Given the description of an element on the screen output the (x, y) to click on. 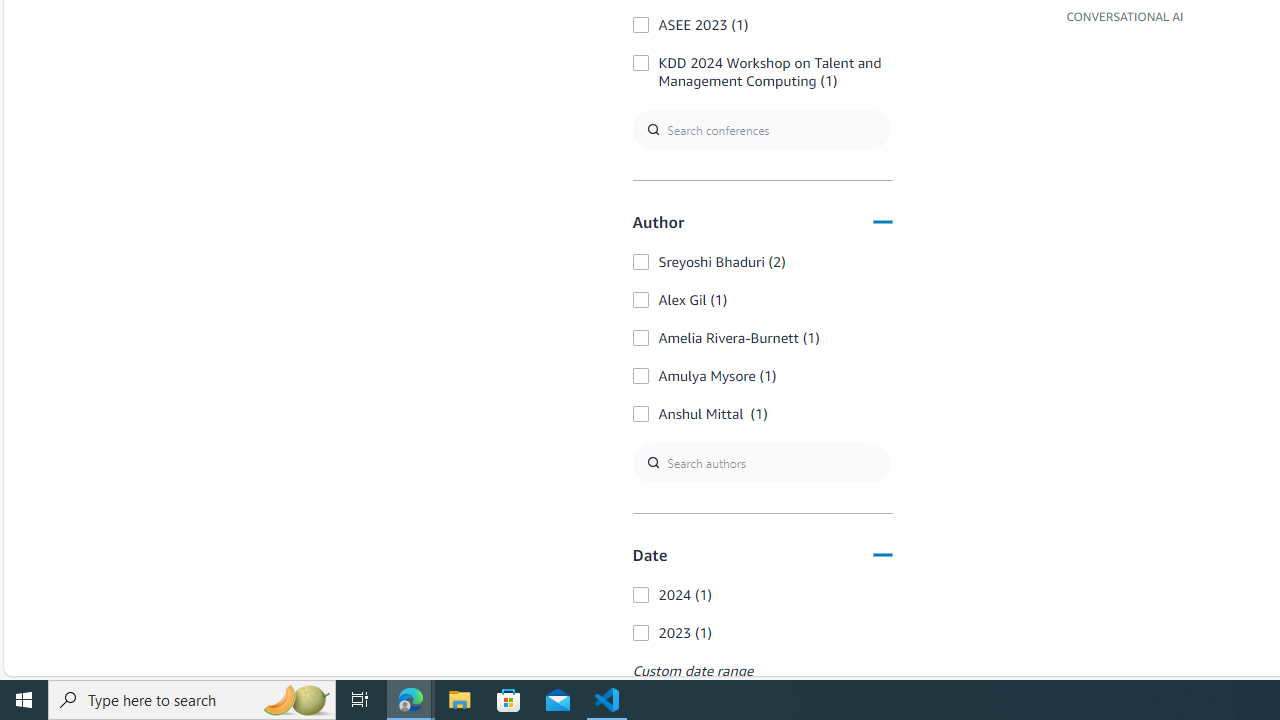
CONVERSATIONAL AI (1125, 15)
